Given the description of an element on the screen output the (x, y) to click on. 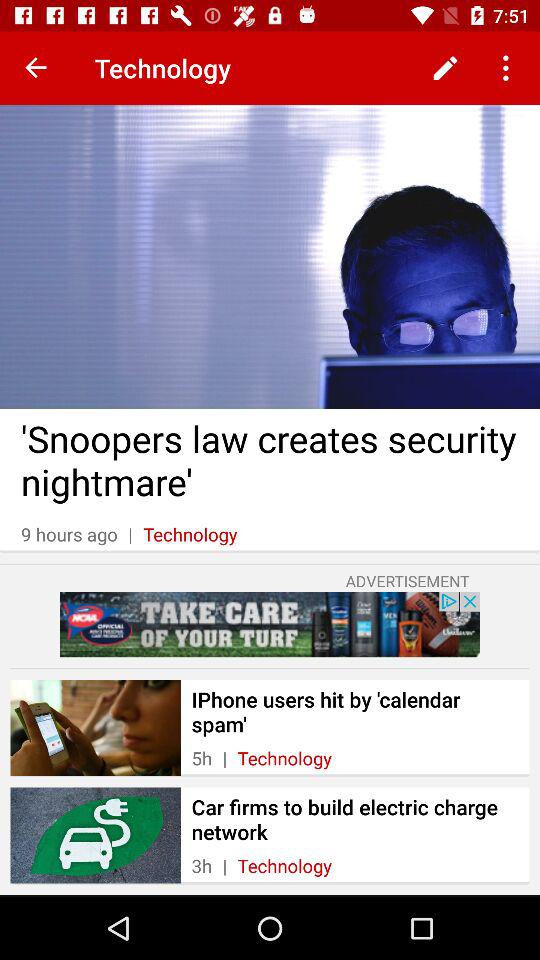
go back (36, 68)
